Given the description of an element on the screen output the (x, y) to click on. 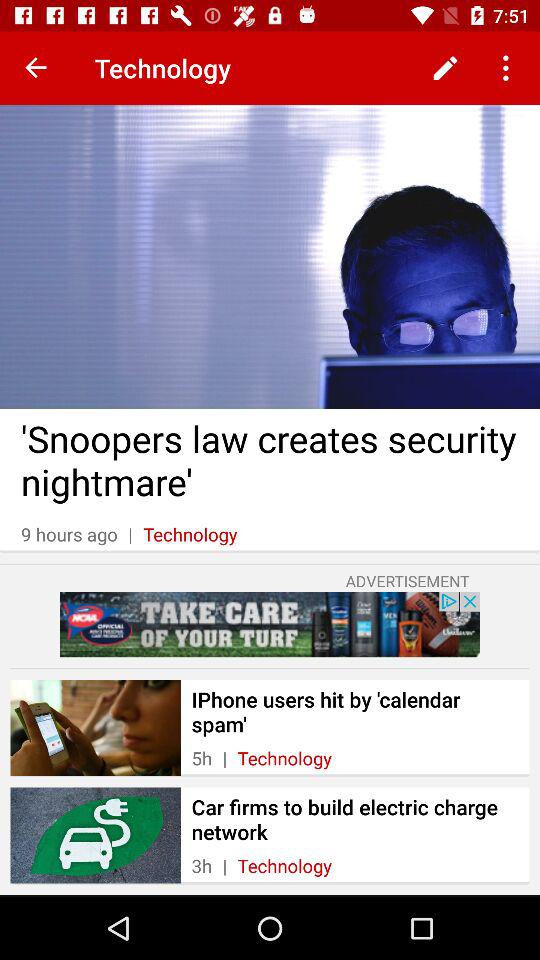
go back (36, 68)
